Given the description of an element on the screen output the (x, y) to click on. 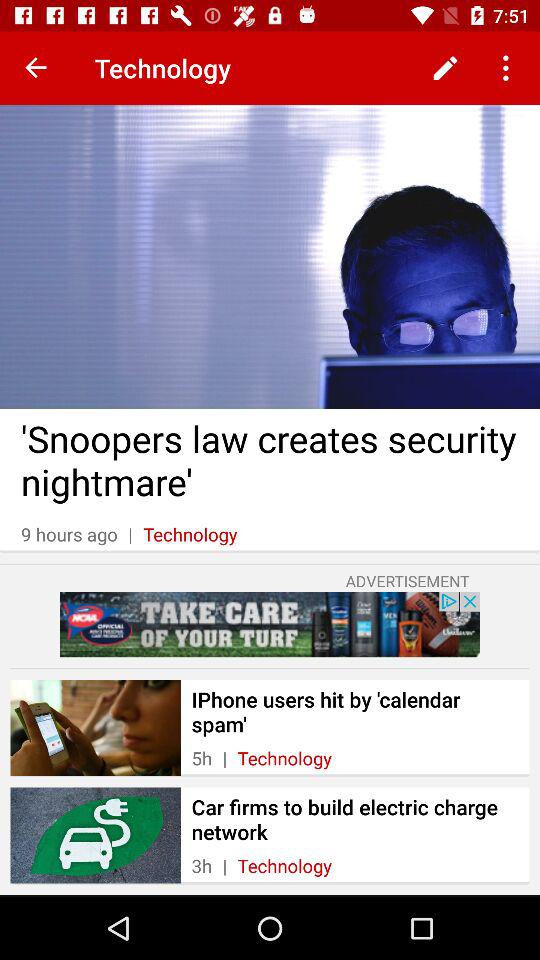
go back (36, 68)
